Given the description of an element on the screen output the (x, y) to click on. 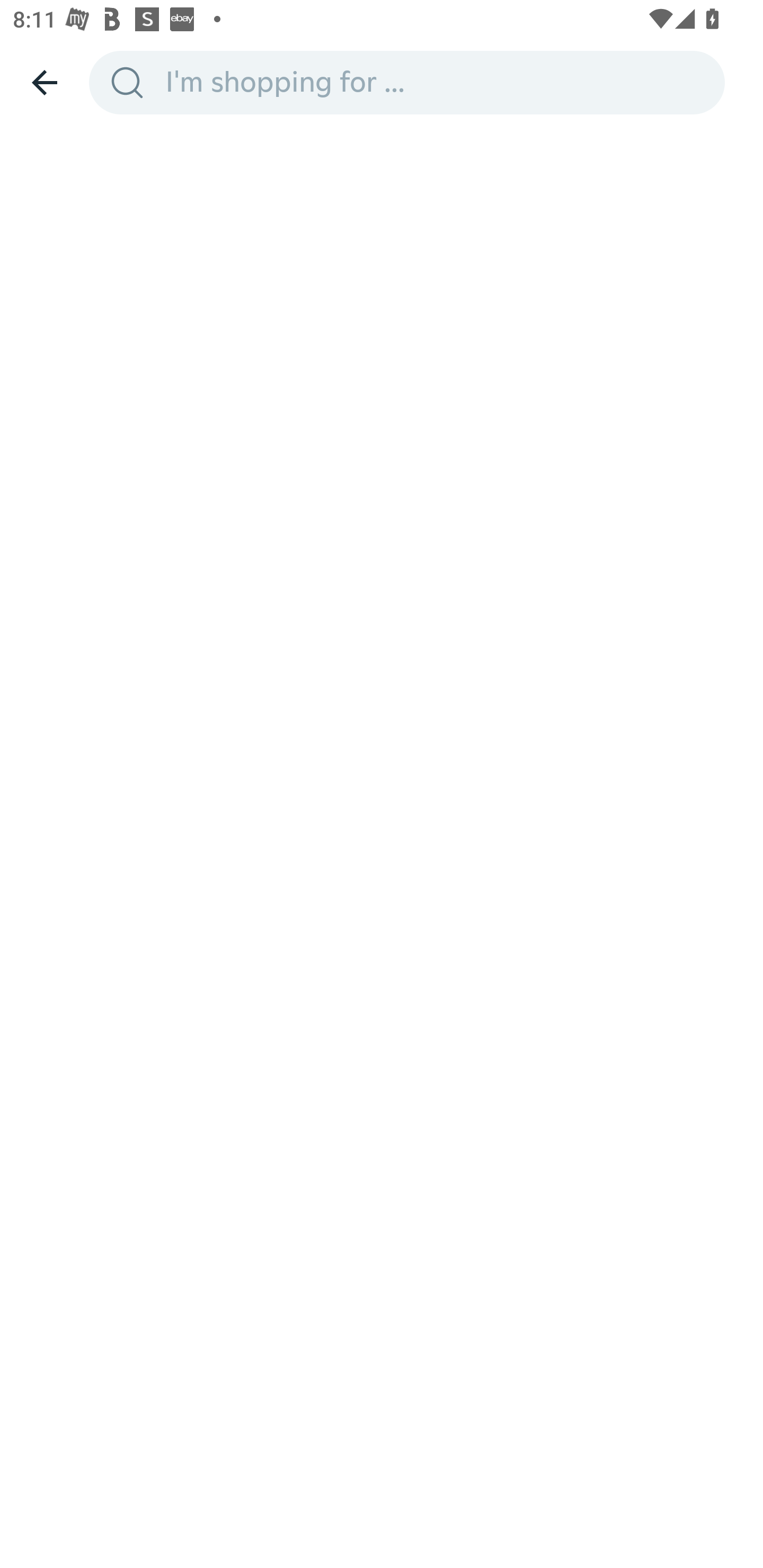
Navigate up (44, 82)
I'm shopping for ... (438, 81)
